Given the description of an element on the screen output the (x, y) to click on. 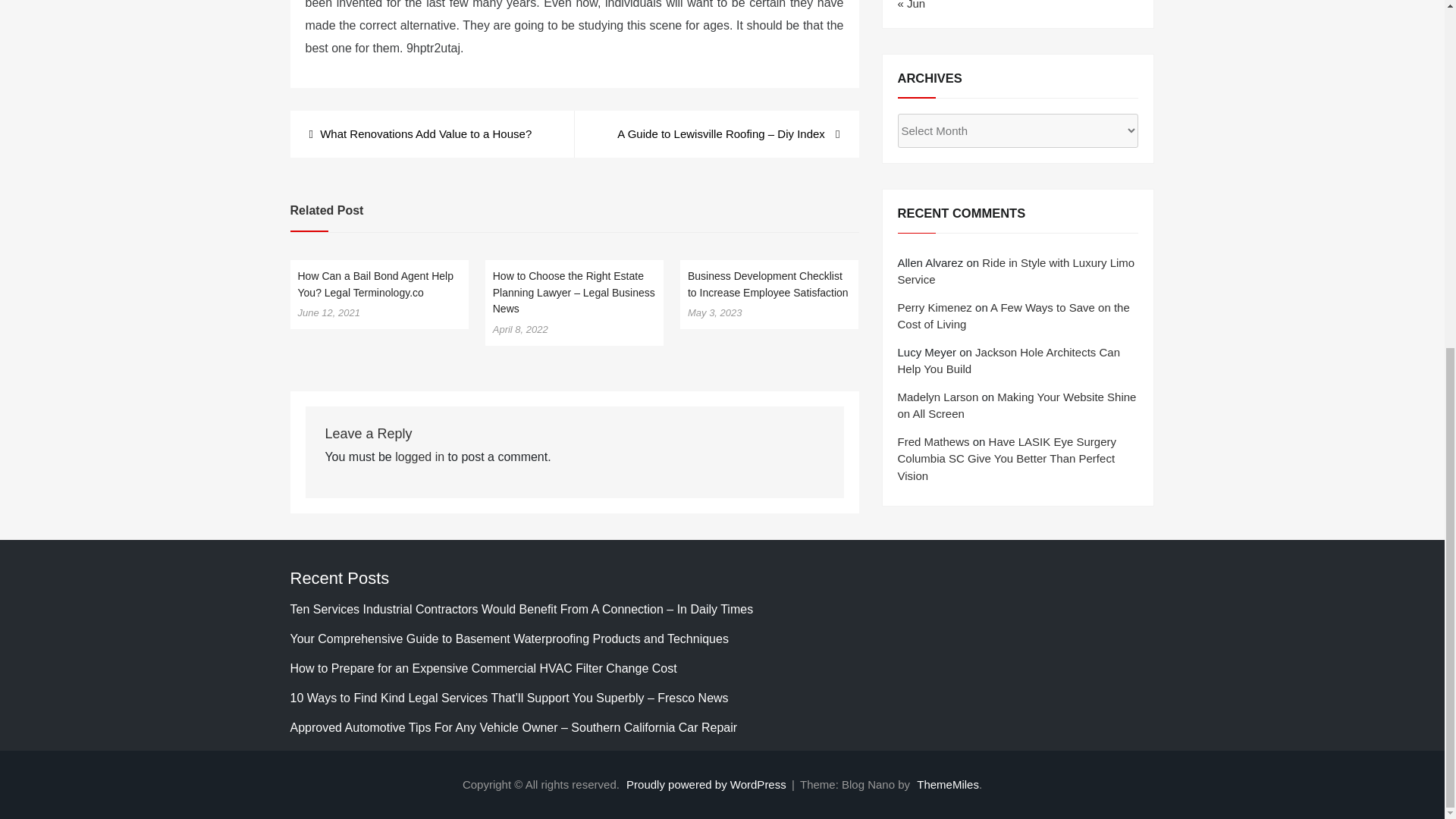
Ride in Style with Luxury Limo Service (1016, 271)
Madelyn Larson (938, 396)
A Few Ways to Save on the Cost of Living (1013, 316)
Perry Kimenez (935, 307)
Jackson Hole Architects Can Help You Build (1008, 360)
Making Your Website Shine on All Screen (1017, 405)
What Renovations Add Value to a House? (420, 134)
logged in (419, 456)
How Can a Bail Bond Agent Help You? Legal Terminology.co (374, 284)
